Given the description of an element on the screen output the (x, y) to click on. 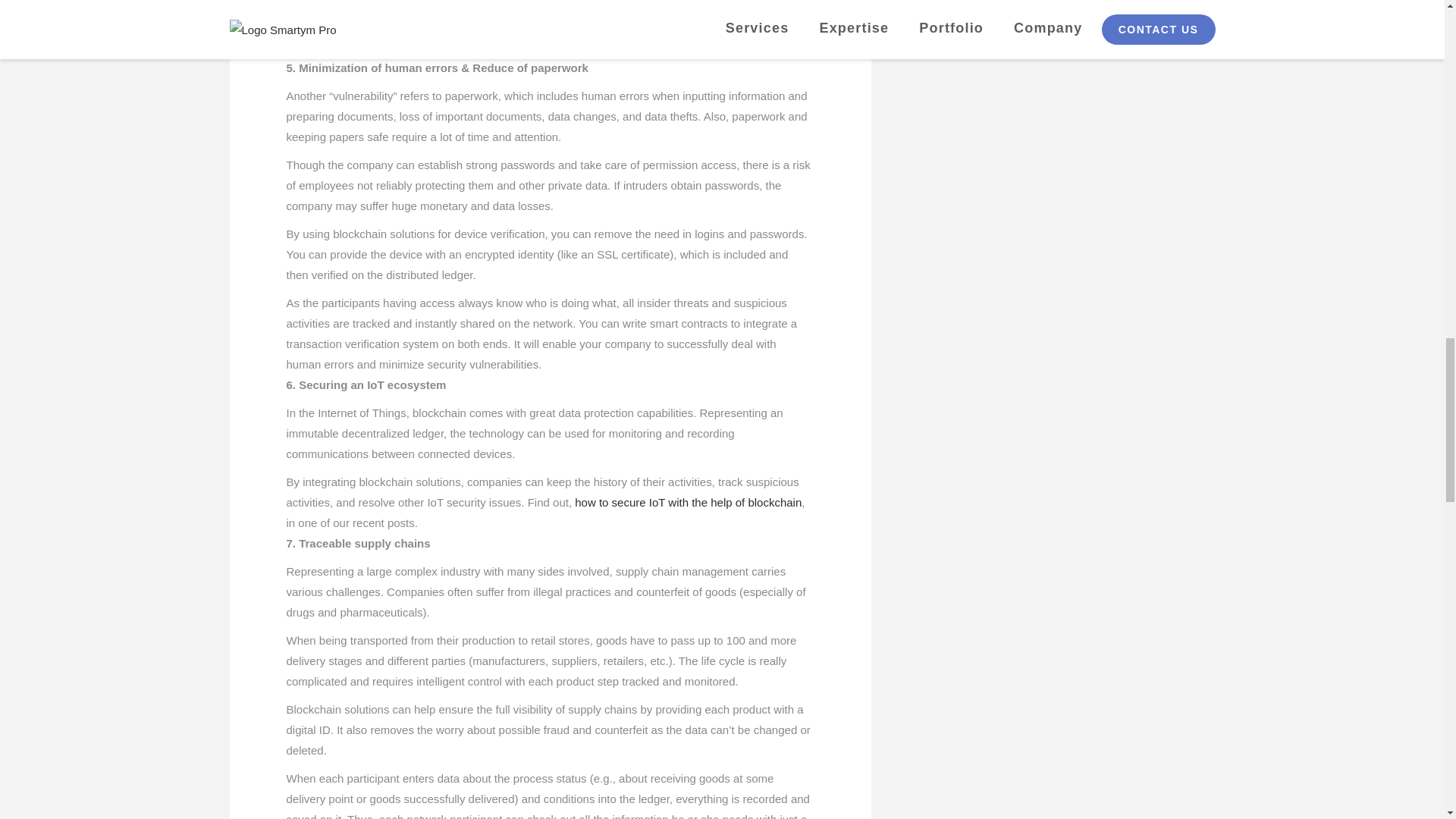
how to secure IoT with the help of blockchain (688, 502)
